Given the description of an element on the screen output the (x, y) to click on. 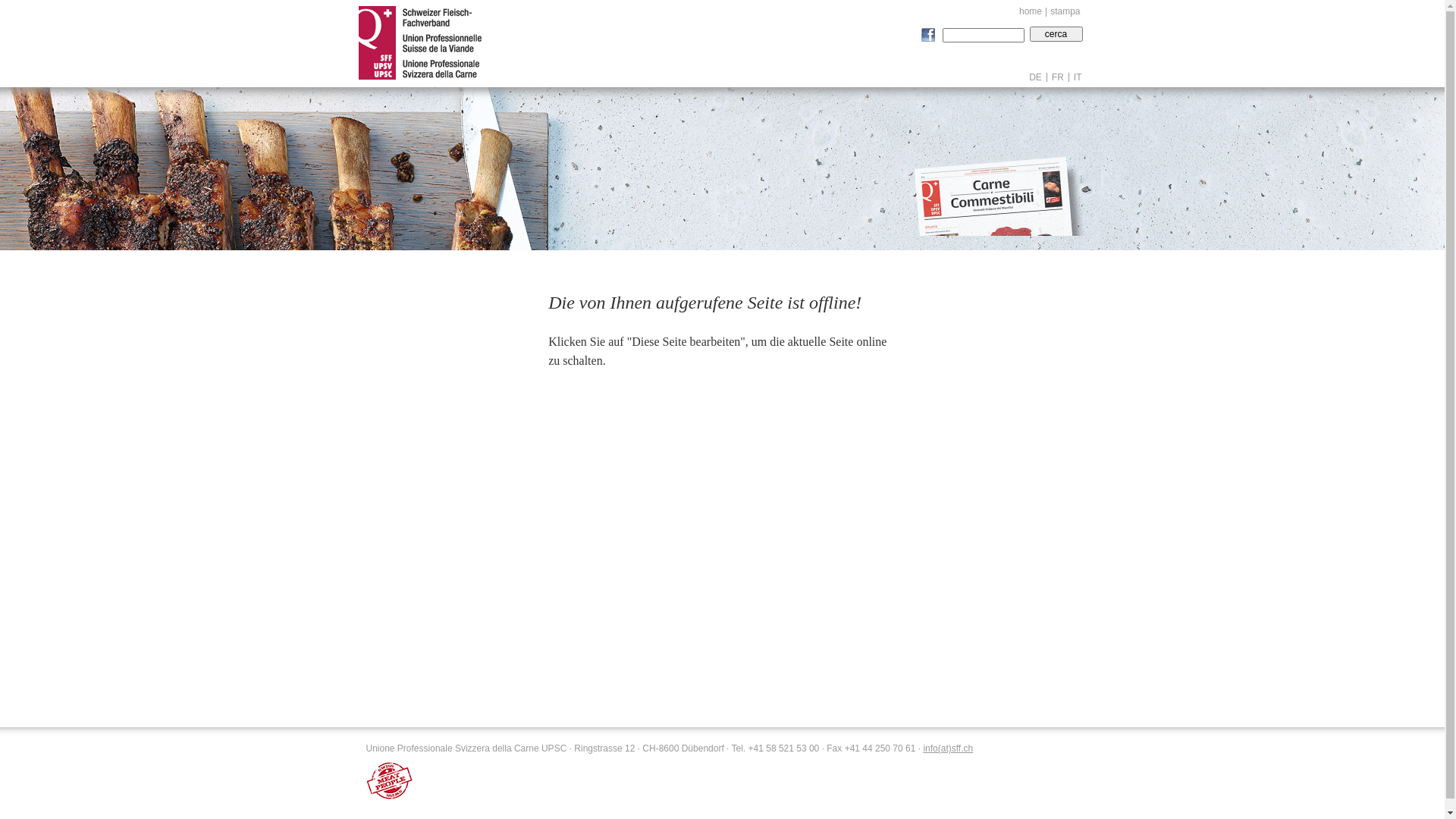
FR Element type: text (1058, 76)
IT Element type: text (1075, 76)
DE Element type: text (1035, 76)
Fleisch und Feinkost Element type: hover (998, 195)
Zur Startseite Element type: hover (418, 44)
Fleisch und Feinkost Element type: hover (998, 197)
info(at)sff.ch Element type: text (947, 748)
cerca Element type: text (1055, 33)
Swiss Meat People Element type: hover (388, 780)
